Given the description of an element on the screen output the (x, y) to click on. 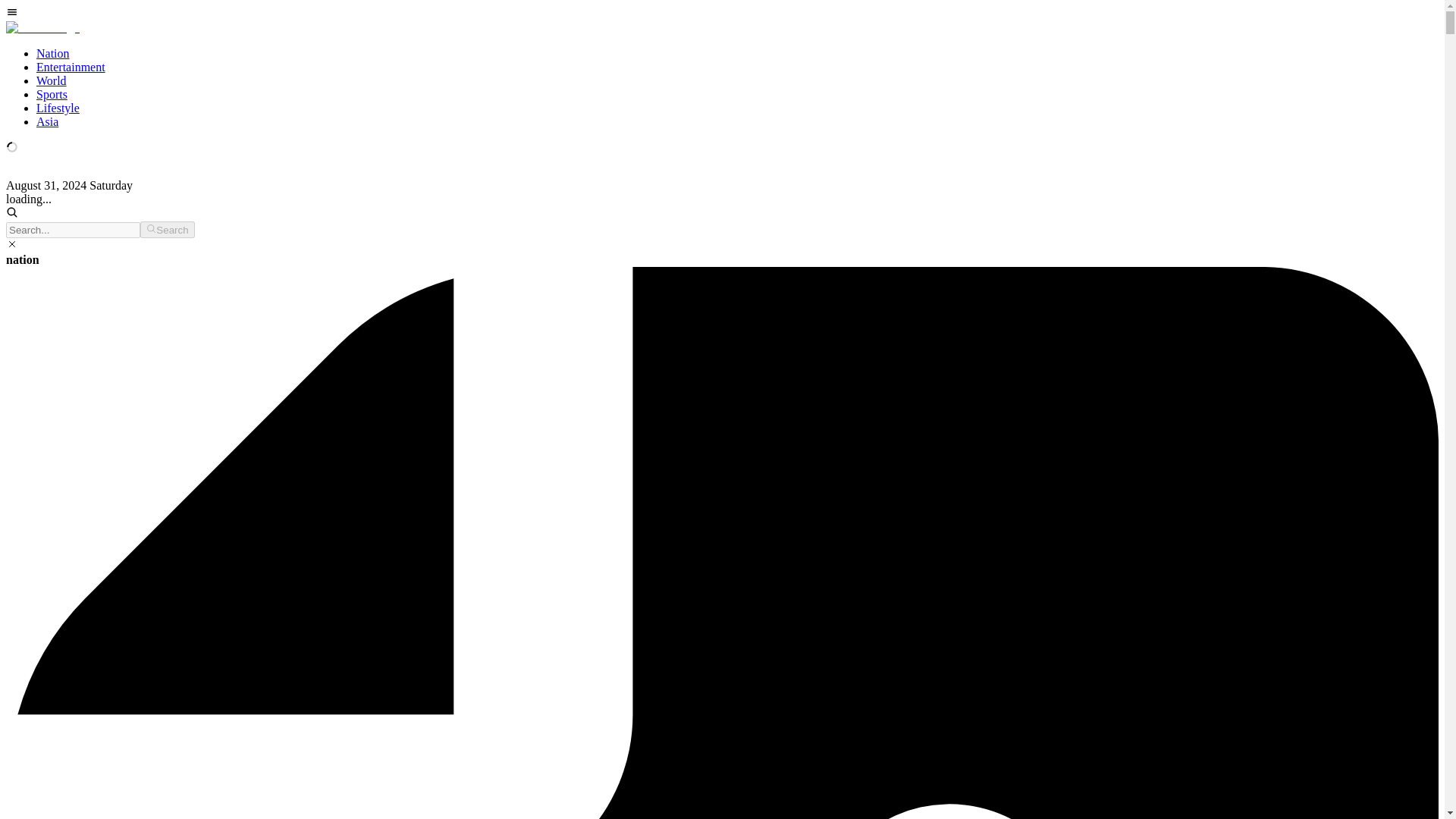
Entertainment (70, 66)
Lifestyle (58, 107)
Asia (47, 121)
Sports (51, 93)
World (51, 80)
Nation (52, 52)
Search (167, 229)
